Given the description of an element on the screen output the (x, y) to click on. 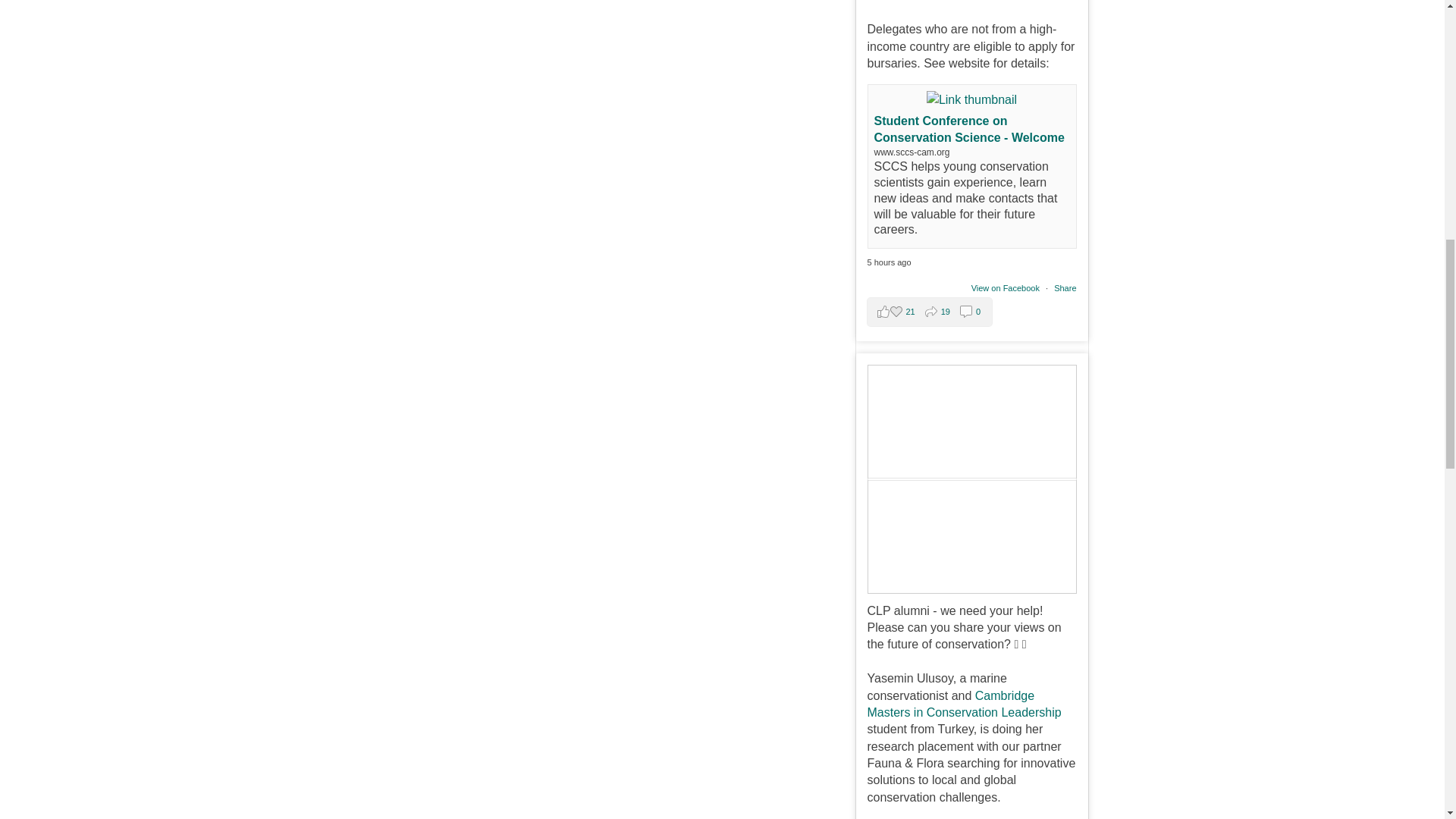
View on Facebook (1006, 287)
Share (1064, 287)
